Given the description of an element on the screen output the (x, y) to click on. 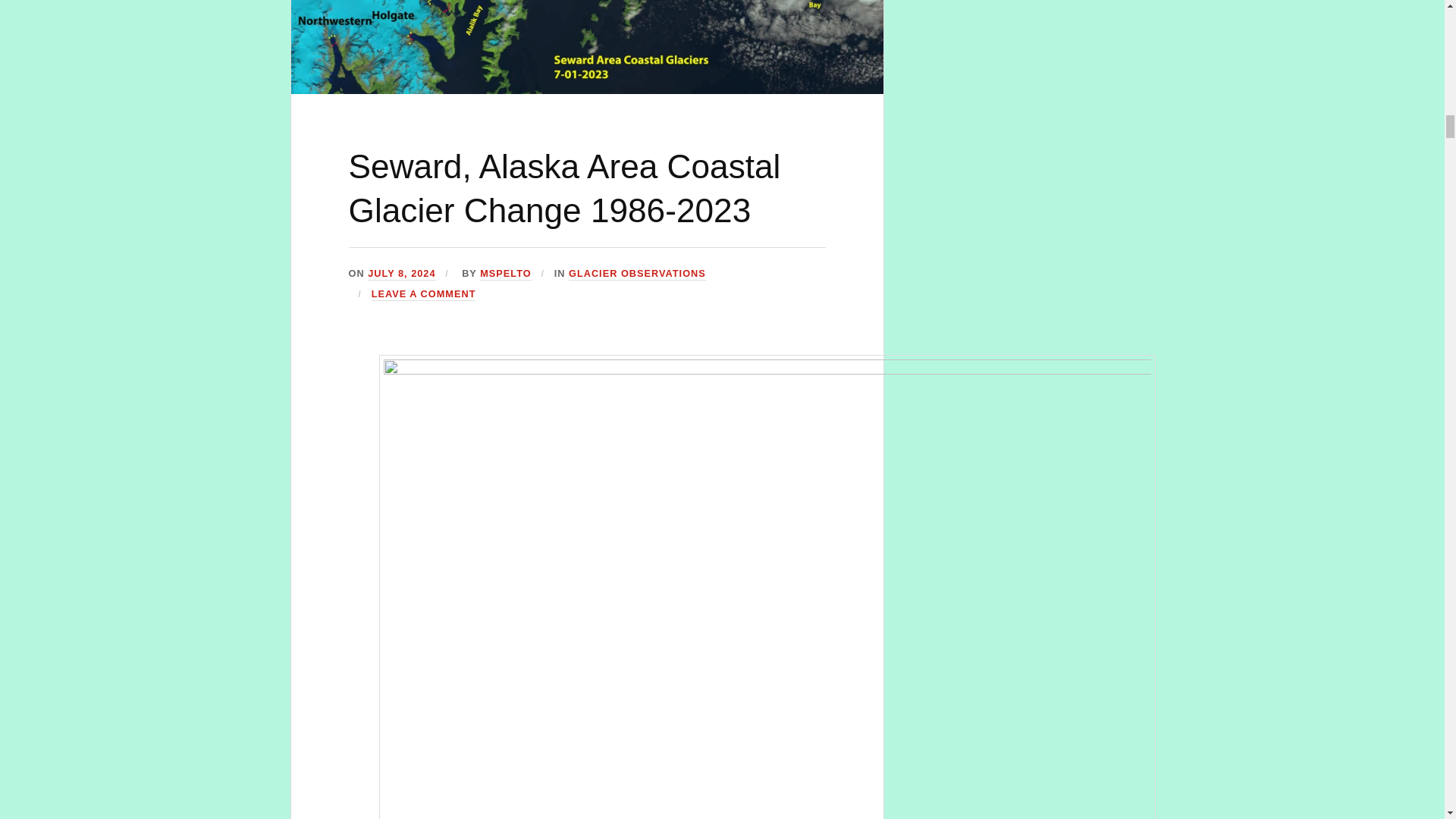
GLACIER OBSERVATIONS (637, 273)
Seward, Alaska Area Coastal Glacier Change 1986-2023 (564, 188)
JULY 8, 2024 (401, 273)
MSPELTO (505, 273)
LEAVE A COMMENT (423, 294)
